Given the description of an element on the screen output the (x, y) to click on. 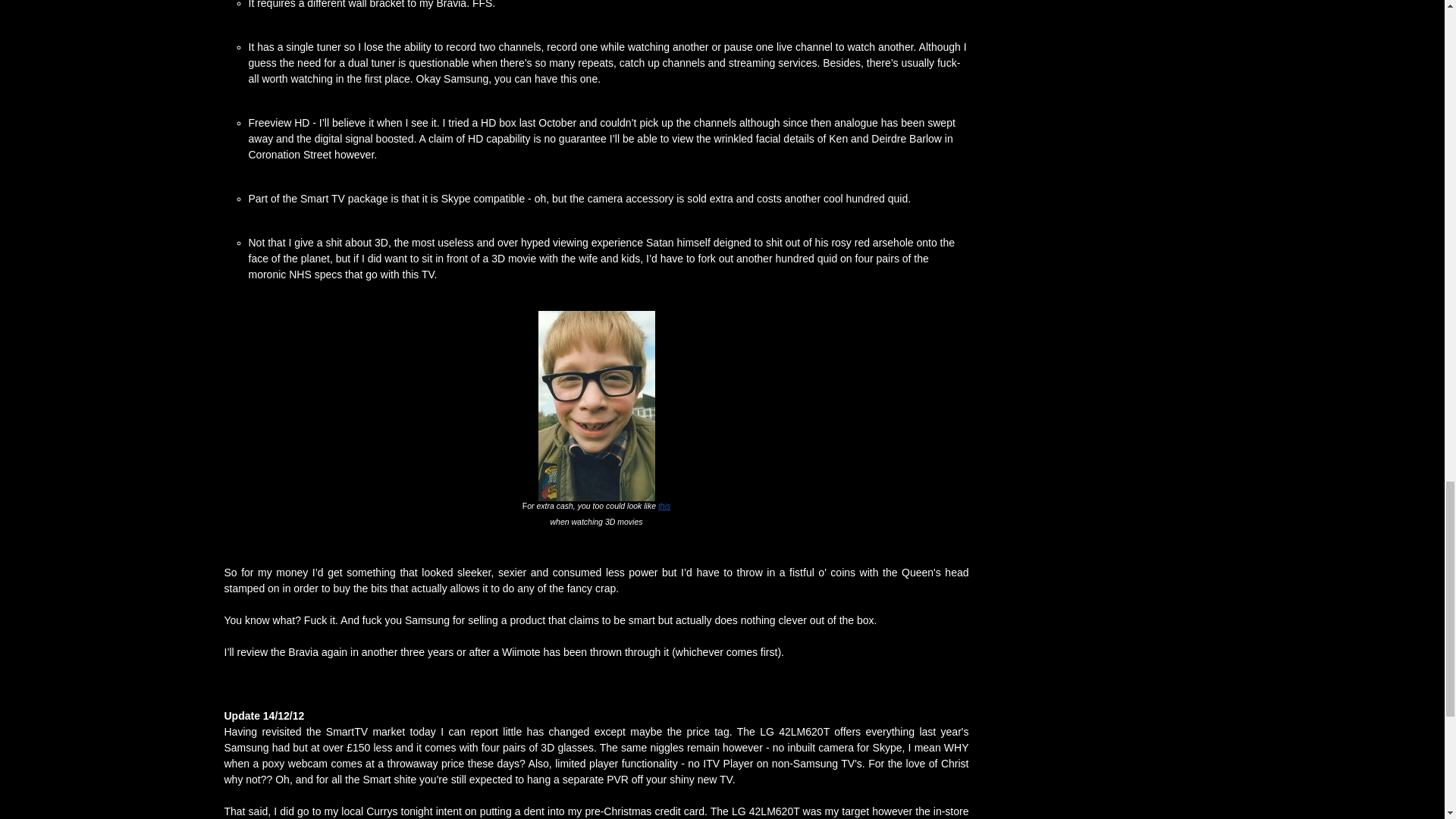
this (663, 505)
